Given the description of an element on the screen output the (x, y) to click on. 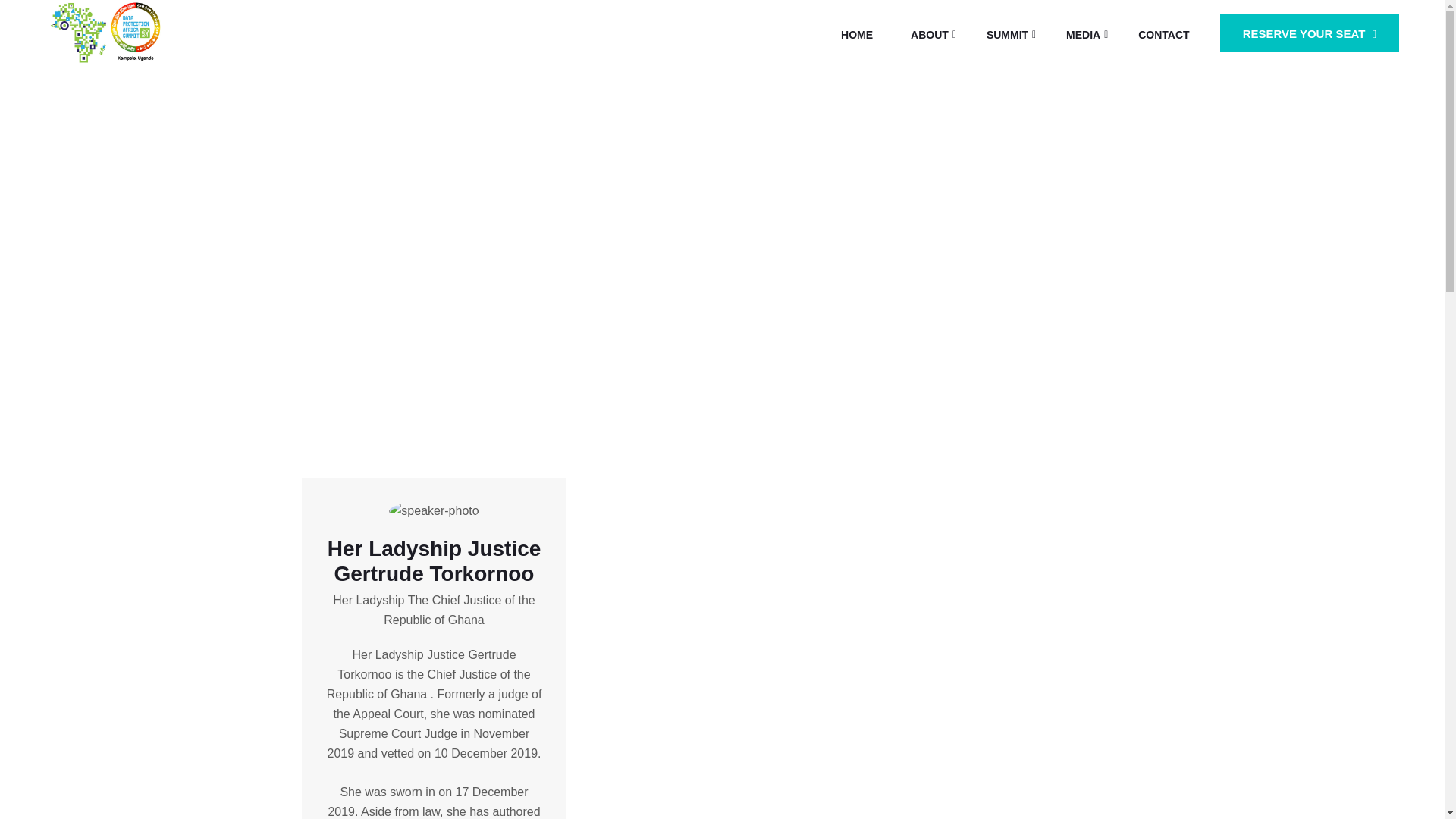
ABOUT (929, 34)
Home (566, 260)
MEDIA (1082, 34)
RESERVE YOUR SEAT (1309, 32)
HOME (856, 34)
Speaker (627, 260)
SUMMIT (1007, 34)
CONTACT (1163, 34)
